Given the description of an element on the screen output the (x, y) to click on. 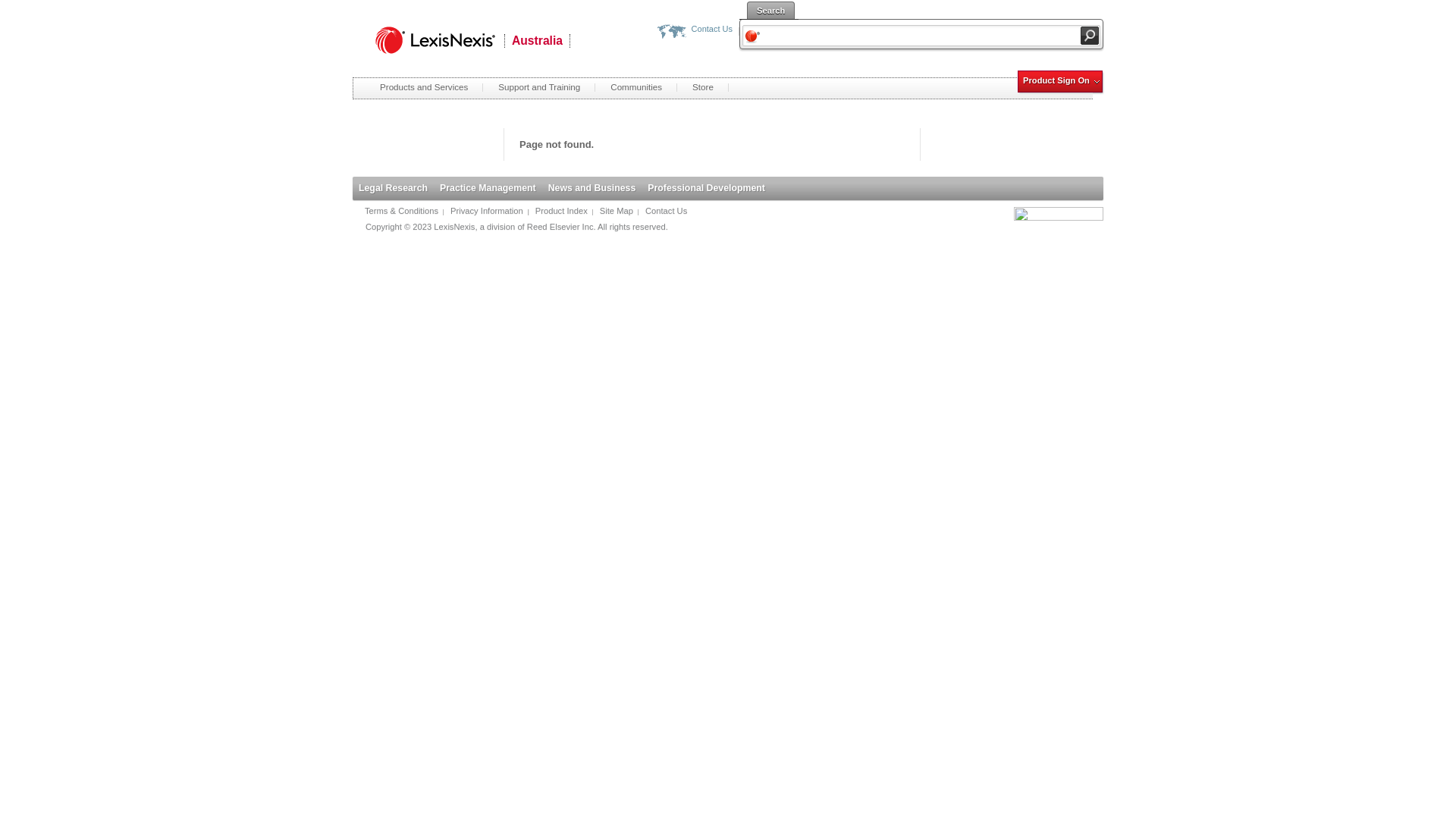
Contact Us Element type: text (666, 210)
Legal Research Element type: text (392, 187)
Store Element type: text (702, 87)
Contact Us Element type: text (694, 28)
world map Element type: hover (671, 31)
Product Index Element type: text (561, 210)
Products and Services Element type: text (423, 87)
News and Business Element type: text (592, 187)
Communities Element type: text (636, 87)
Practice Management Element type: text (487, 187)
Privacy Information Element type: text (486, 210)
Site Map Element type: text (616, 210)
Australia Element type: text (536, 40)
Search LexisNexis.com Element type: hover (1089, 35)
Professional Development Element type: text (706, 187)
Terms & Conditions Element type: text (401, 210)
Support and Training Element type: text (539, 87)
